Given the description of an element on the screen output the (x, y) to click on. 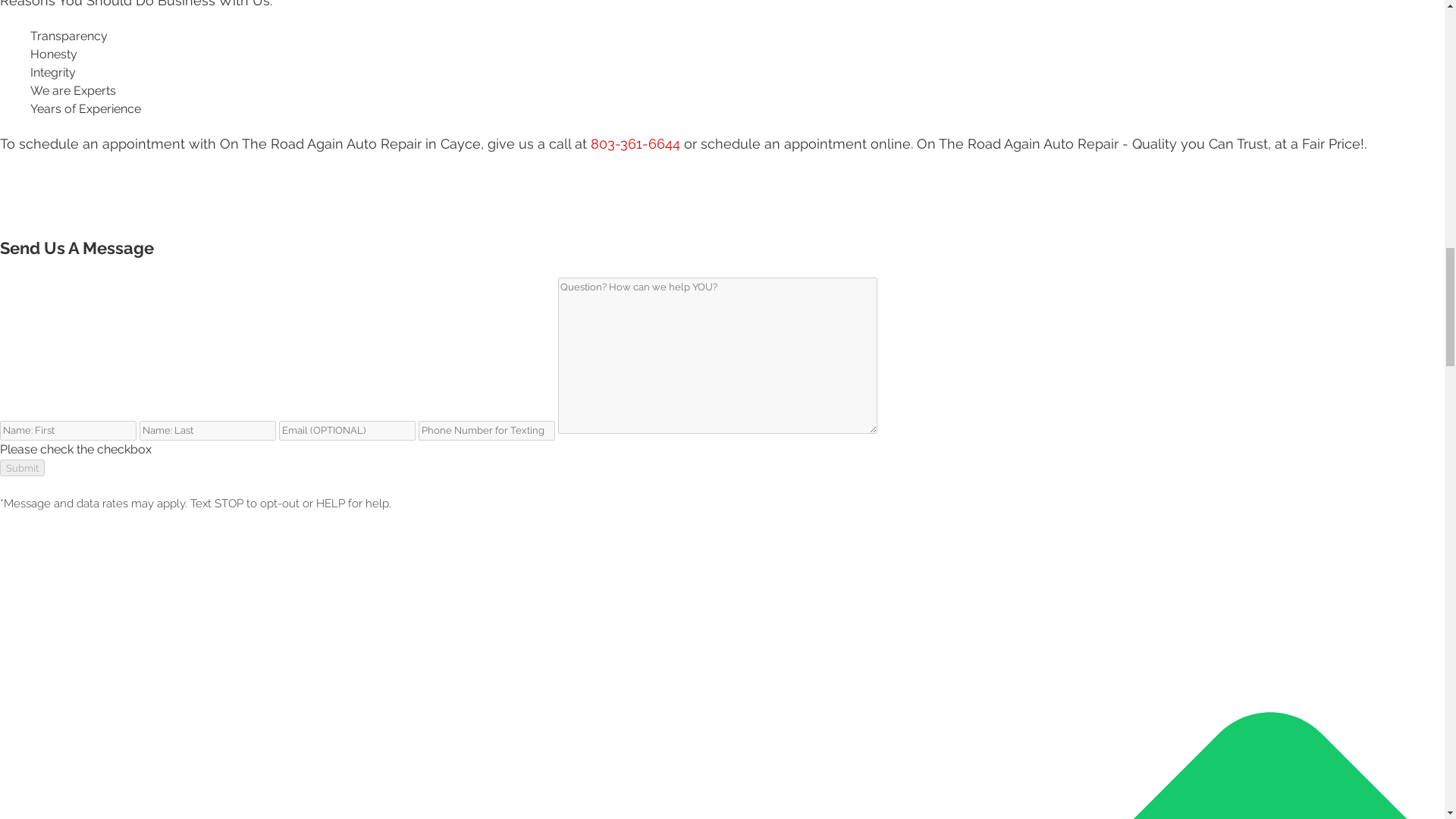
Submit (22, 467)
